Given the description of an element on the screen output the (x, y) to click on. 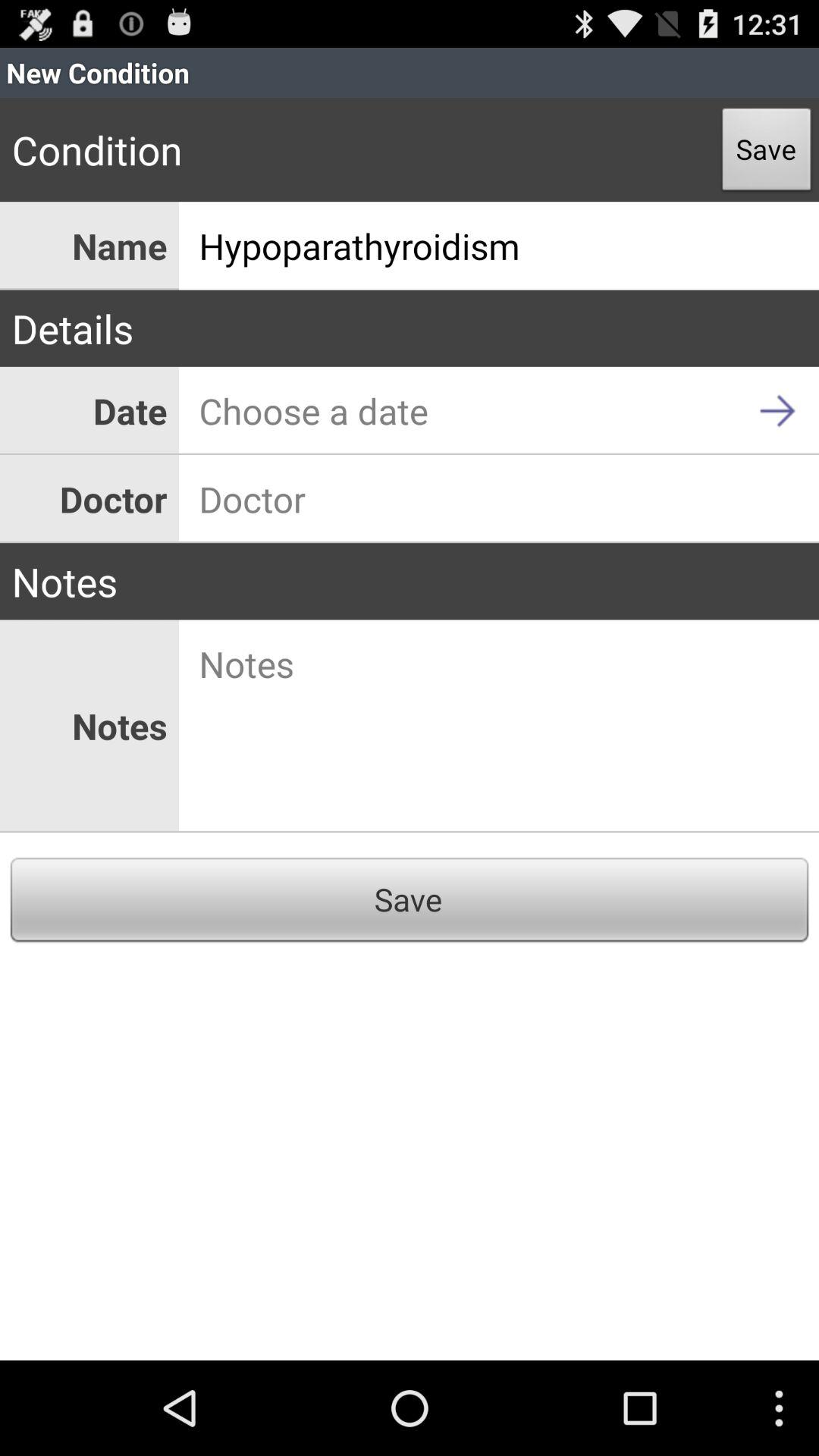
open icon below the details (499, 410)
